Given the description of an element on the screen output the (x, y) to click on. 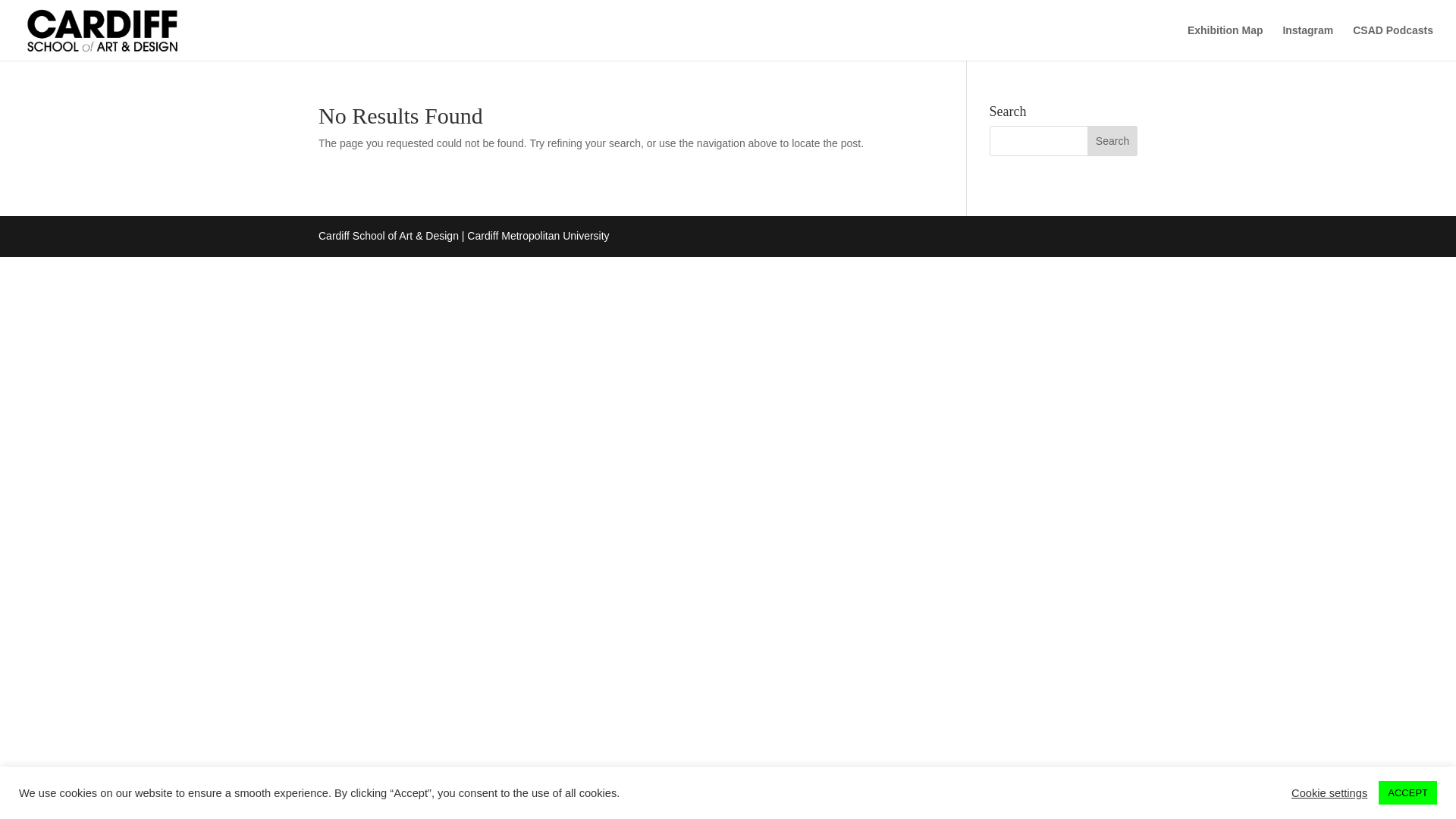
Search (1112, 141)
CSAD Podcasts (1392, 42)
Search (1112, 141)
Exhibition Map (1225, 42)
Instagram (1307, 42)
